Given the description of an element on the screen output the (x, y) to click on. 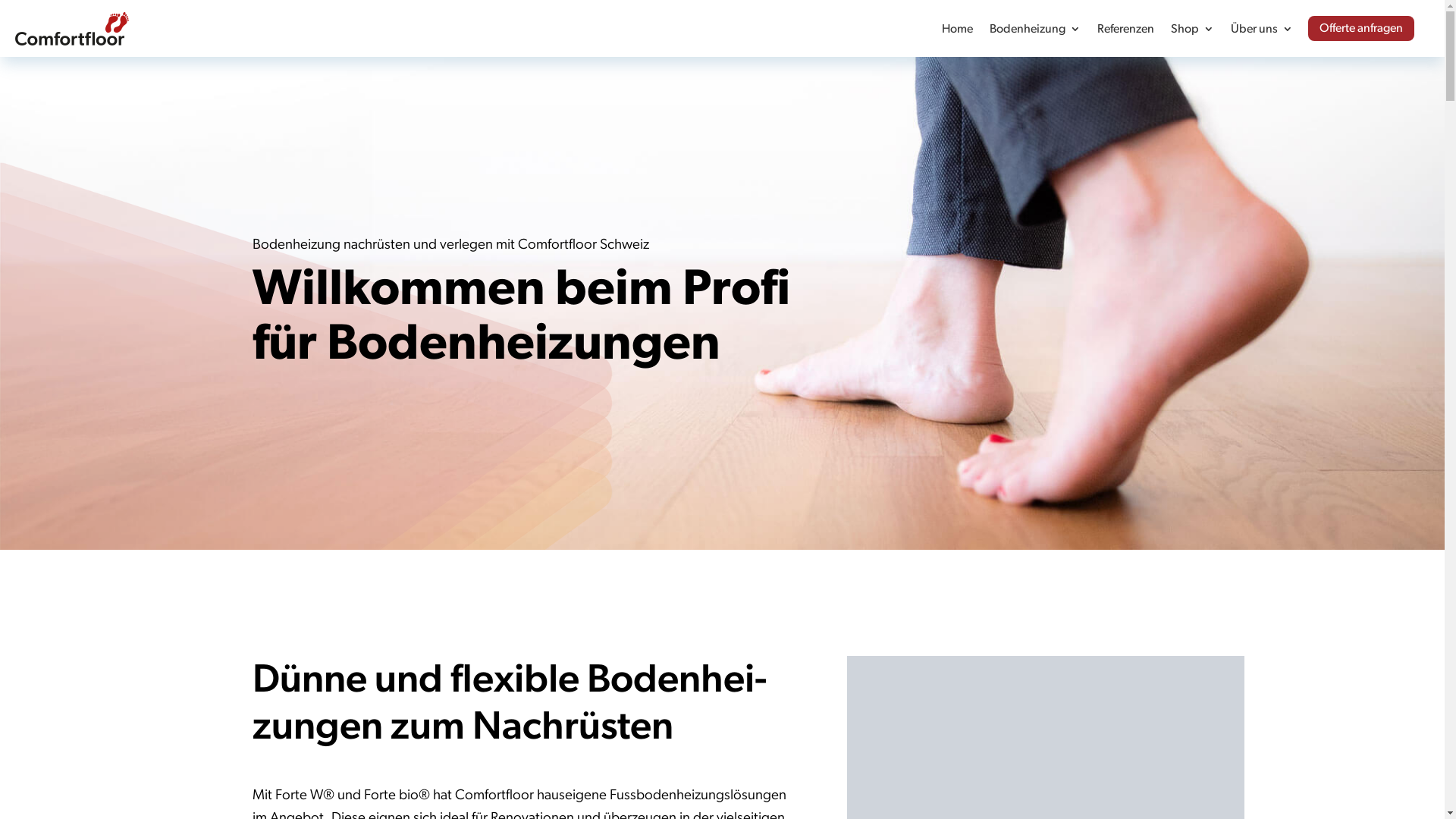
comfortfloor-logo-header Element type: hover (71, 28)
Home Element type: text (956, 30)
Referenzen Element type: text (1125, 30)
Offerte anfragen Element type: text (1361, 27)
Shop Element type: text (1192, 30)
Bodenheizung Element type: text (1034, 30)
